Given the description of an element on the screen output the (x, y) to click on. 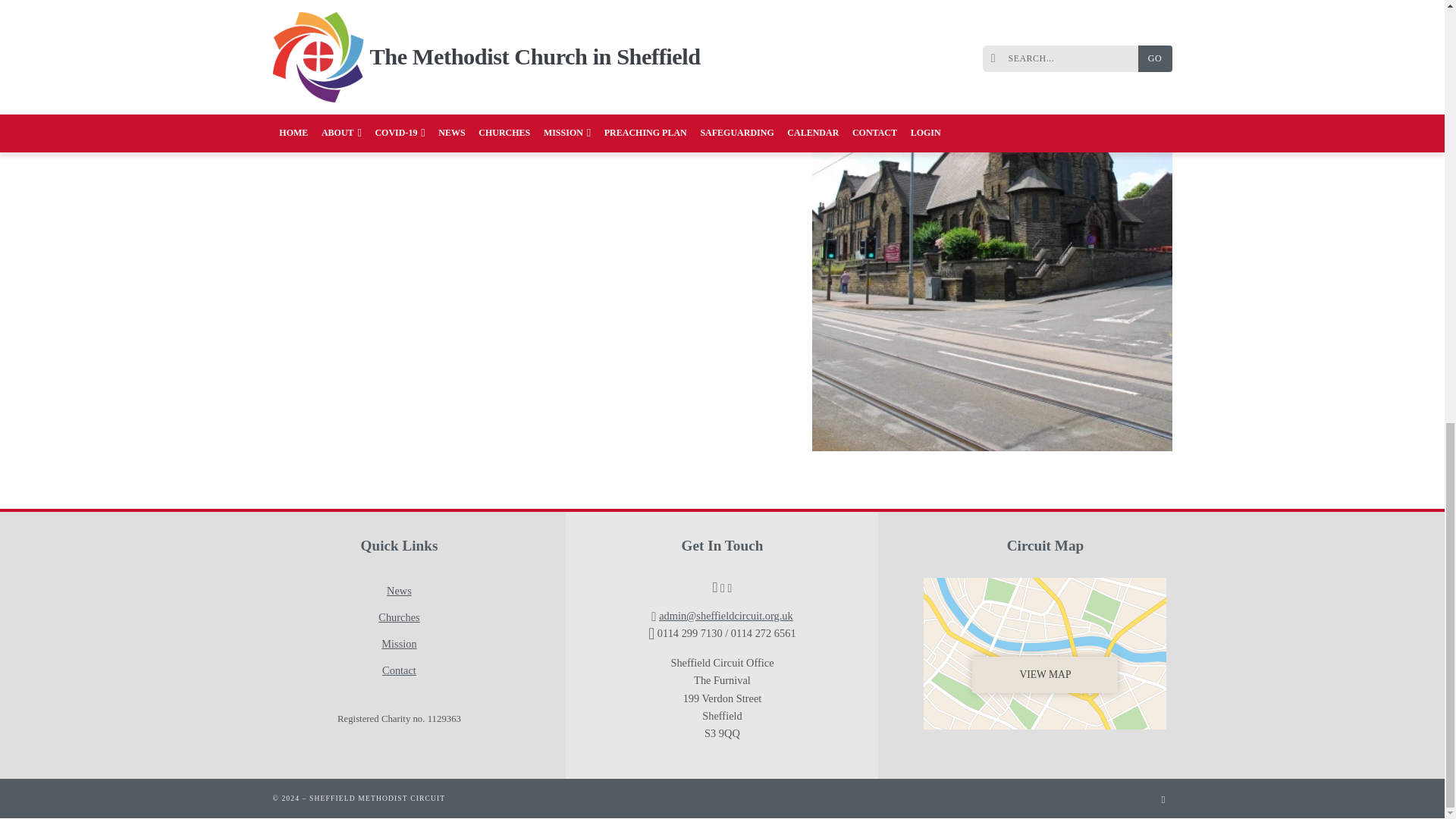
Visit our Facebook Page (404, 797)
Churches (398, 617)
Visit our X Feed (411, 797)
News (398, 591)
